Given the description of an element on the screen output the (x, y) to click on. 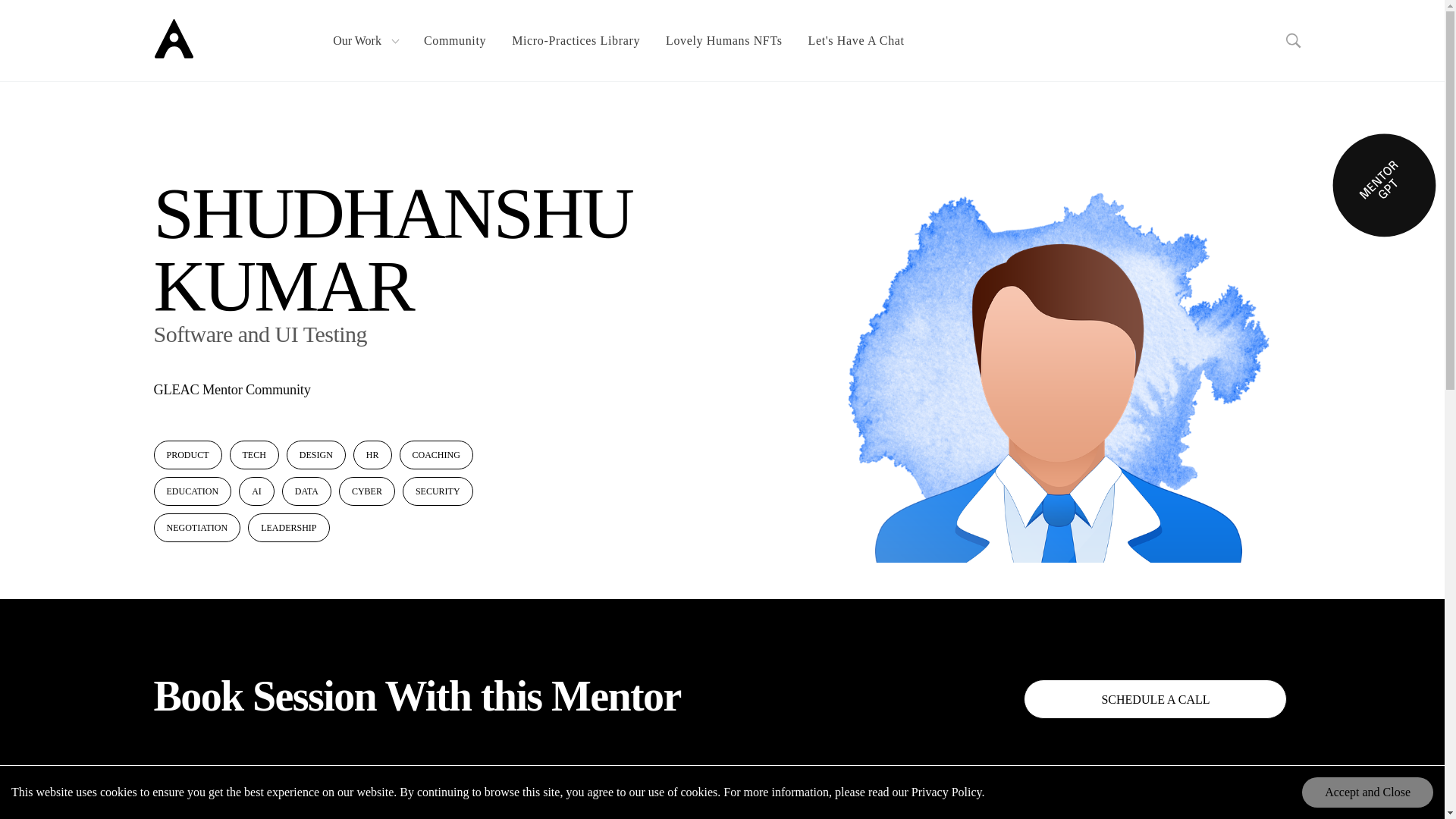
Privacy Policy (946, 791)
Our Work (365, 40)
Let's Have A Chat (855, 40)
Community (454, 40)
Lovely Humans NFTs (723, 40)
SCHEDULE A CALL (1155, 699)
Micro-Practices Library (575, 40)
Accept and Close (1366, 792)
